Given the description of an element on the screen output the (x, y) to click on. 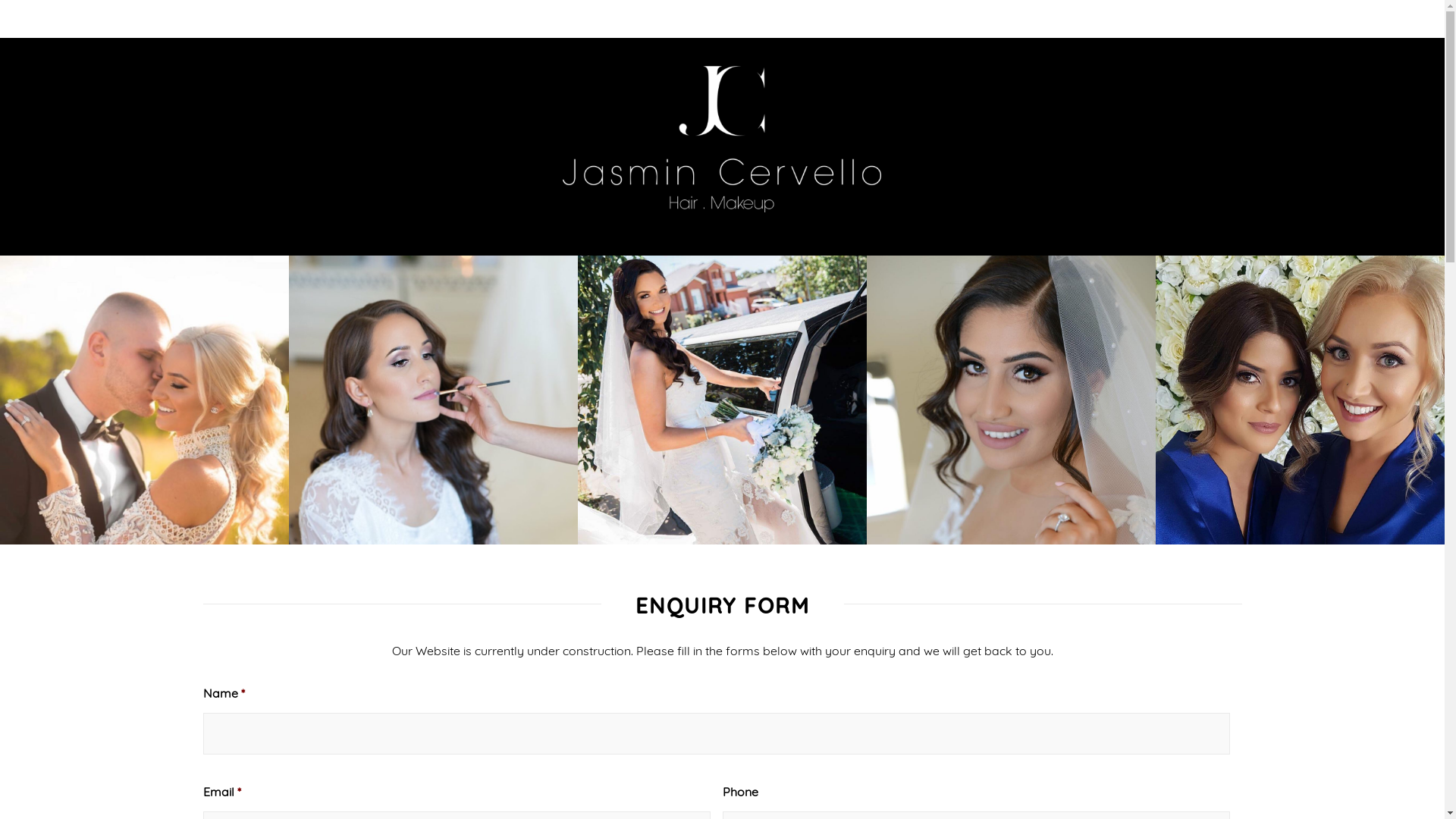
logo Element type: hover (721, 138)
